Given the description of an element on the screen output the (x, y) to click on. 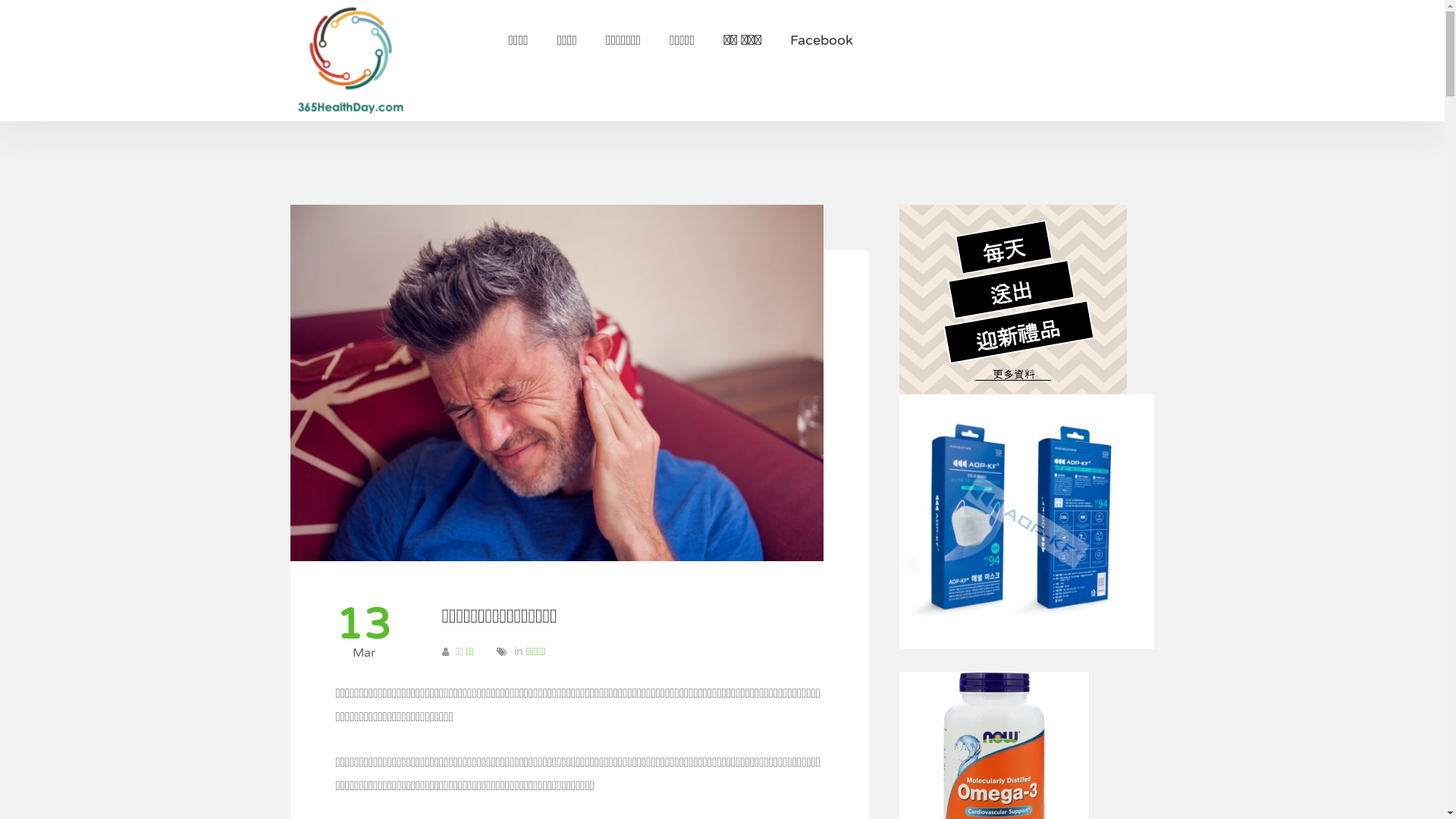
Facebook Element type: text (821, 40)
